Given the description of an element on the screen output the (x, y) to click on. 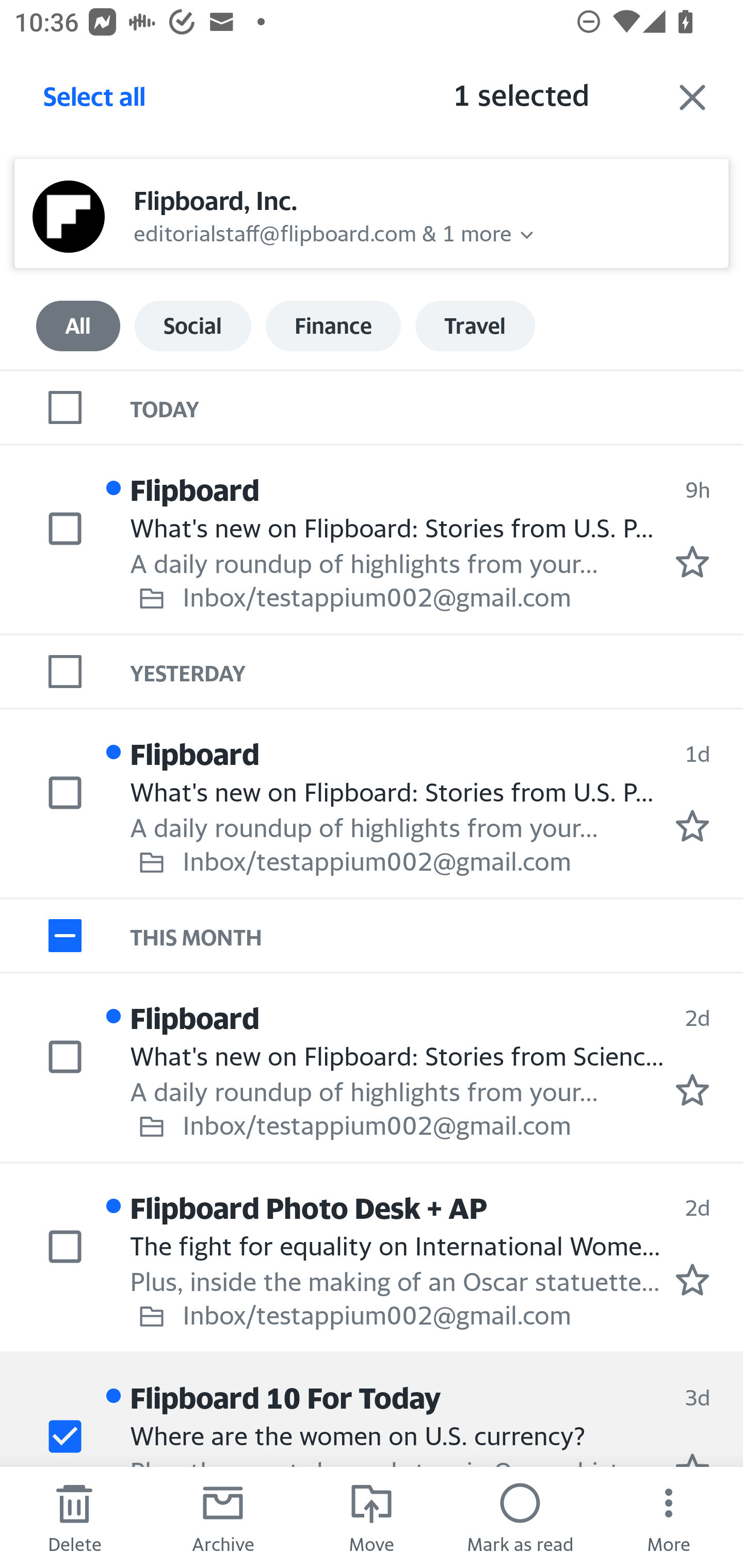
Exit selection mode (692, 97)
Select all (94, 101)
editorialstaff@flipboard.com & 1 more (322, 231)
All (78, 326)
Social (192, 326)
Finance (333, 326)
Travel (474, 326)
TODAY (436, 406)
Mark as starred. (692, 562)
YESTERDAY (436, 671)
Mark as starred. (692, 825)
THIS MONTH (436, 935)
Mark as starred. (692, 1090)
Mark as starred. (692, 1280)
Delete (74, 1517)
Archive (222, 1517)
Move (371, 1517)
Mark as read (519, 1517)
More (668, 1517)
